Given the description of an element on the screen output the (x, y) to click on. 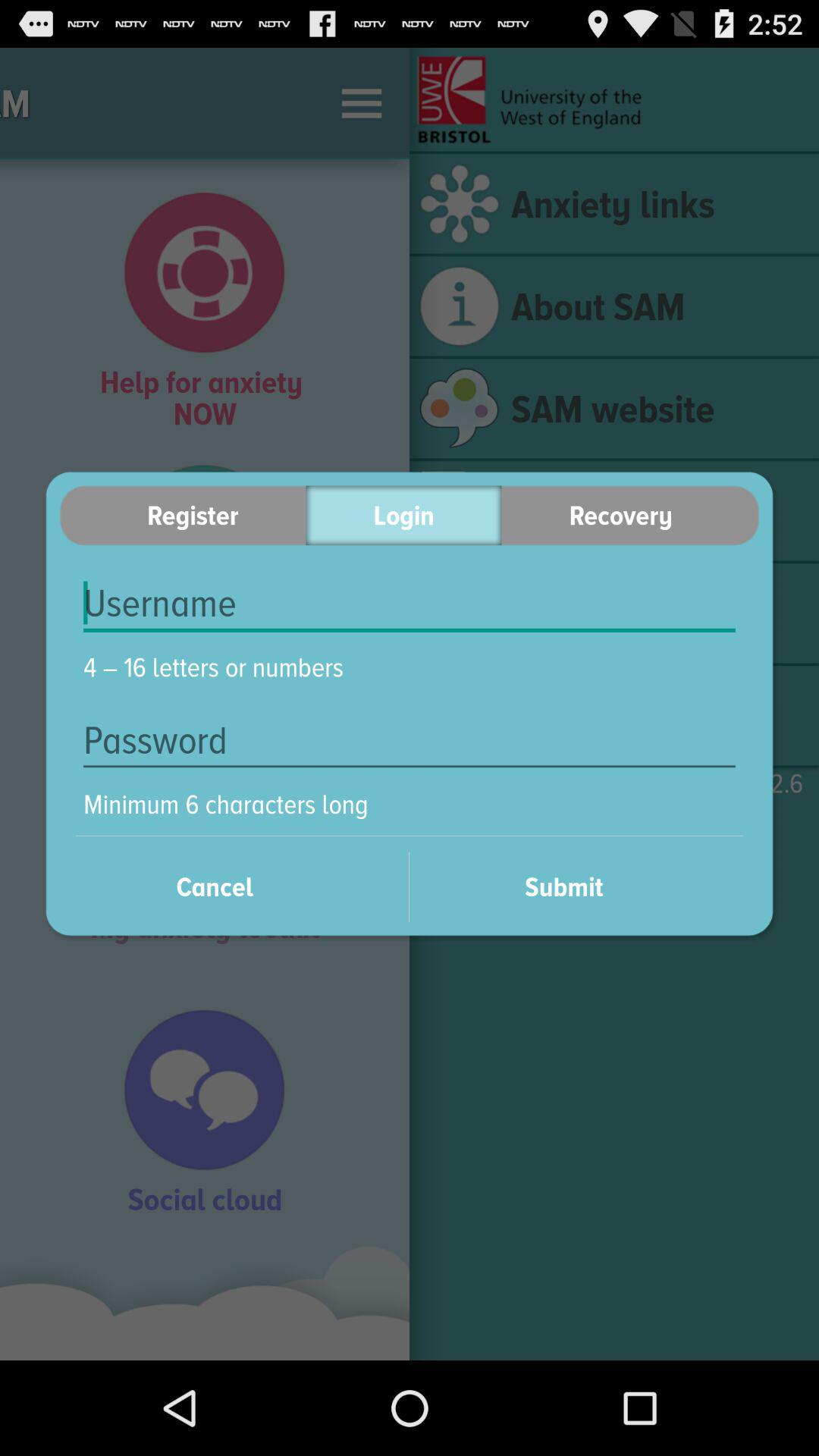
tap the icon to the left of the recovery item (403, 515)
